Given the description of an element on the screen output the (x, y) to click on. 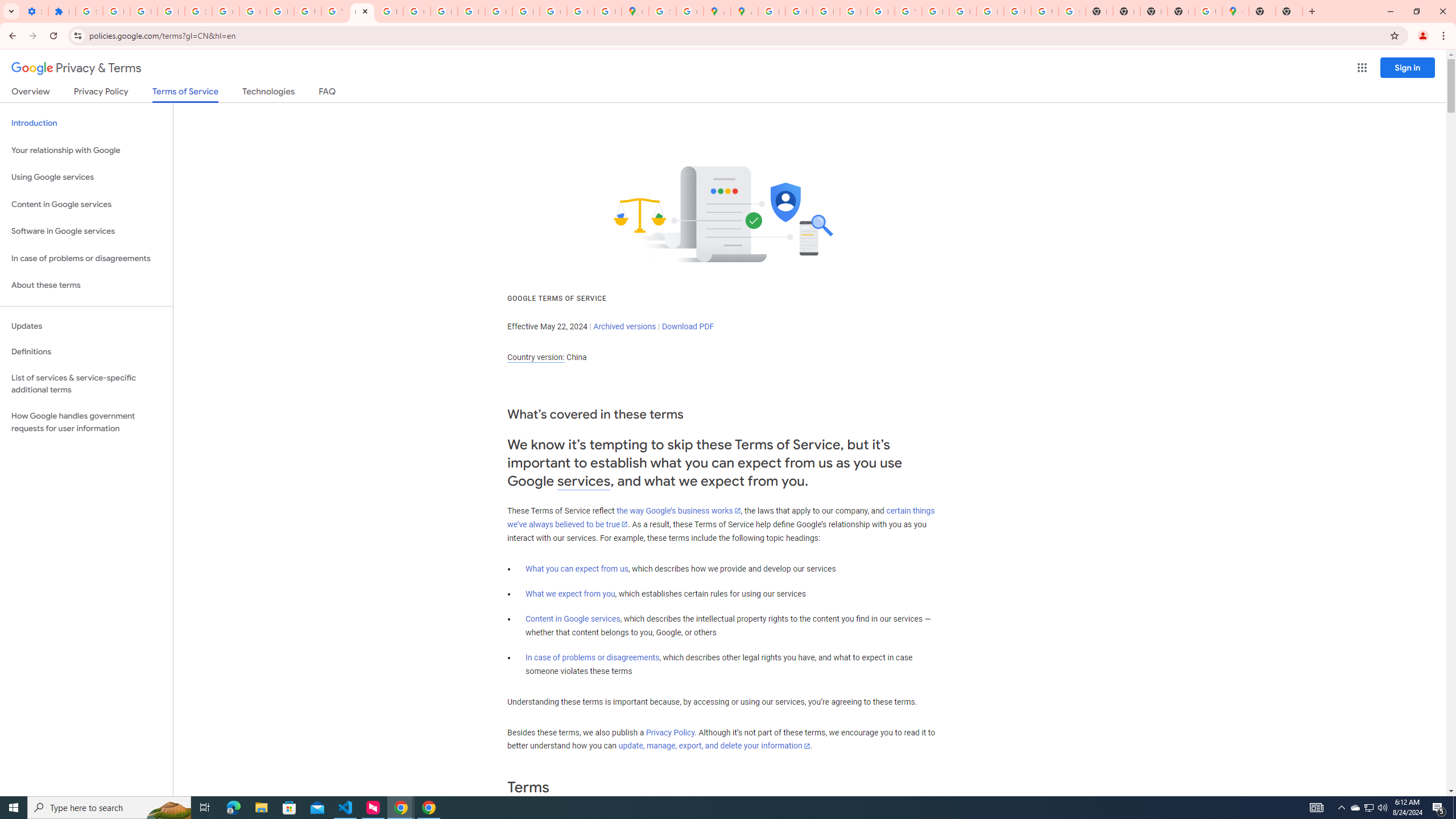
Create your Google Account (690, 11)
About these terms (86, 284)
Sign in - Google Accounts (88, 11)
In case of problems or disagreements (592, 657)
Google Account Help (253, 11)
Content in Google services (572, 618)
List of services & service-specific additional terms (86, 383)
